Given the description of an element on the screen output the (x, y) to click on. 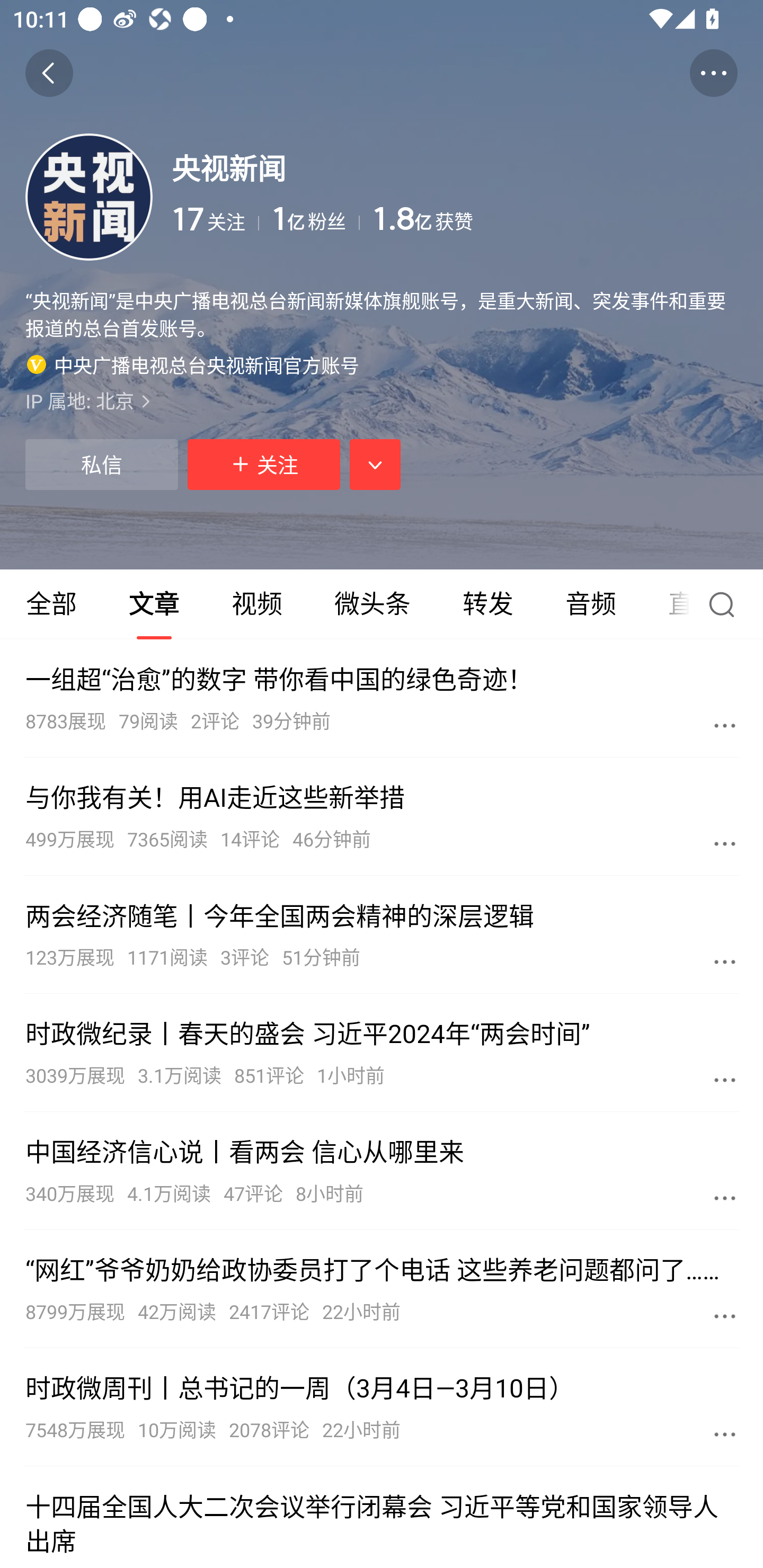
返回 (49, 72)
更多操作 (713, 72)
头像 (88, 196)
17 关注 (215, 219)
1亿 粉丝 (315, 219)
1.8亿 获赞 (554, 219)
中央广播电视总台央视新闻官方账号 (192, 364)
IP 属地: 北京 (381, 400)
私信 (101, 464)
     关注 (263, 464)
展开相关推荐，按钮 (374, 464)
全部 (51, 604)
文章 (154, 604)
视频 (256, 604)
微头条 (372, 604)
转发 (487, 604)
音频 (590, 604)
搜索 (726, 604)
更多 (724, 724)
更多 (724, 843)
更多 (724, 960)
更多 (724, 1079)
更多 (724, 1197)
更多 (724, 1315)
更多 (724, 1433)
